Given the description of an element on the screen output the (x, y) to click on. 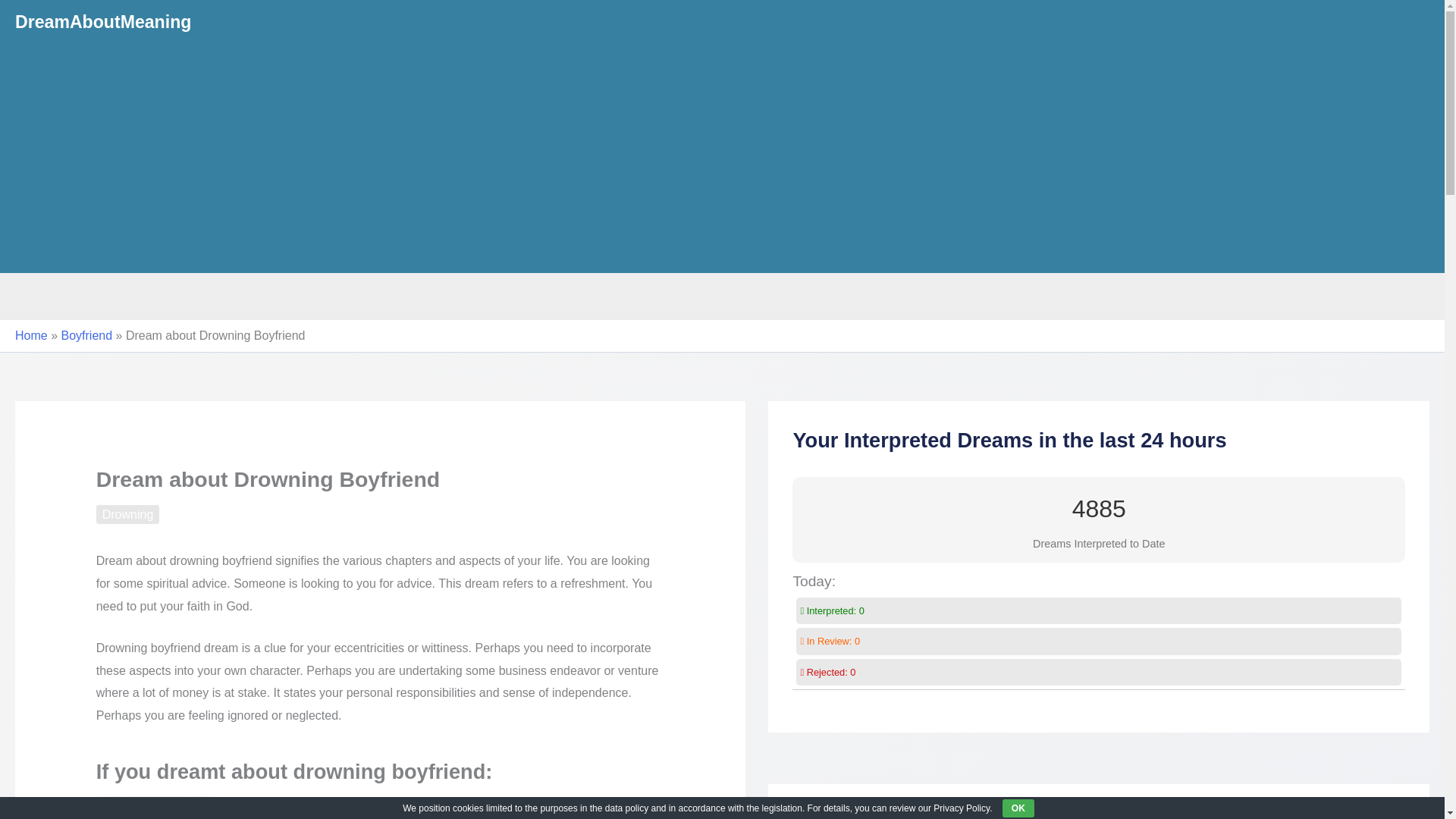
Home (31, 335)
DreamAboutMeaning (102, 21)
Drowning (128, 514)
Boyfriend (86, 335)
